Given the description of an element on the screen output the (x, y) to click on. 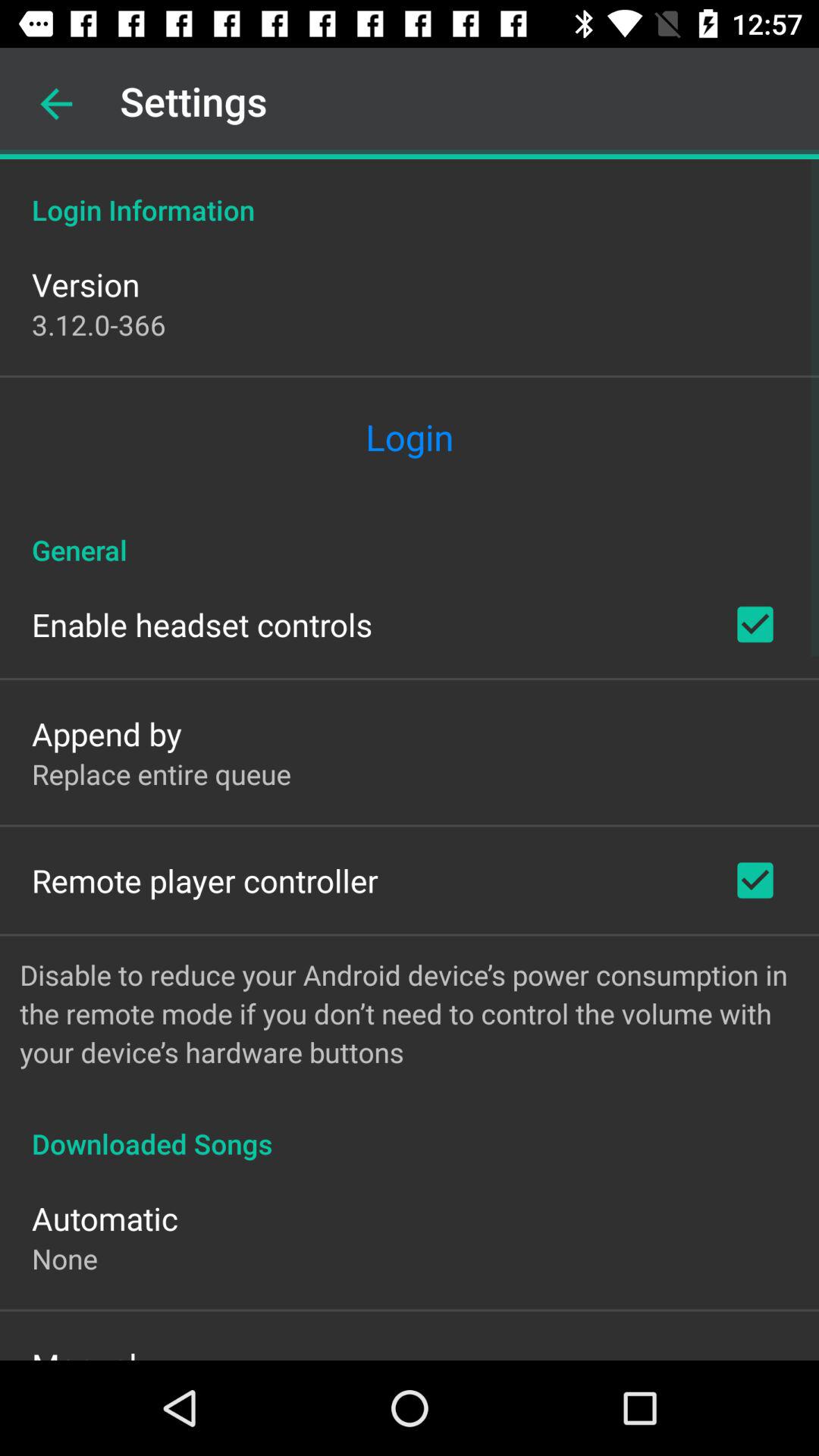
scroll until disable to reduce icon (409, 1013)
